Given the description of an element on the screen output the (x, y) to click on. 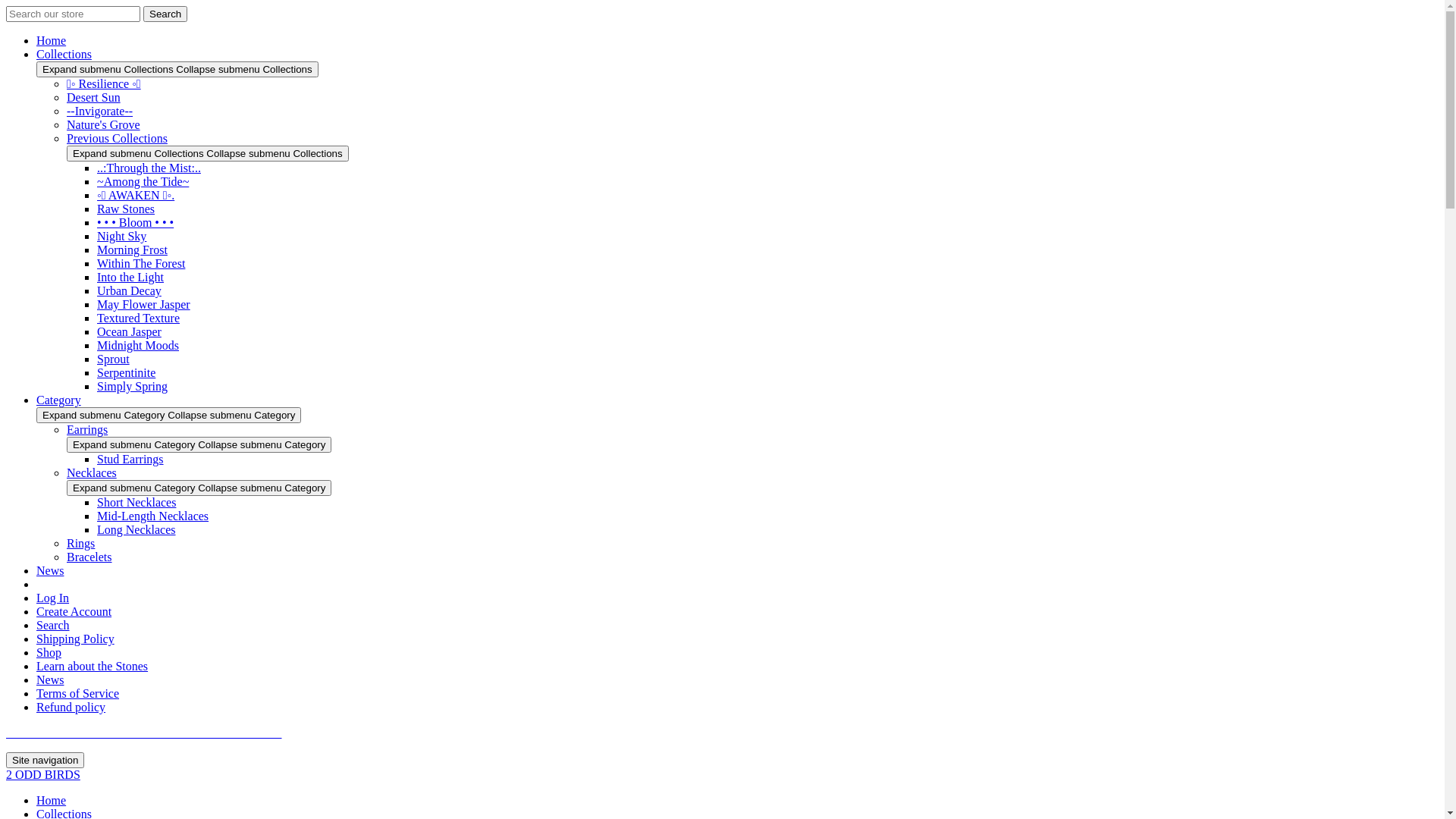
Earrings Element type: text (86, 429)
~Among the Tide~ Element type: text (142, 181)
Site navigation Element type: text (45, 760)
Long Necklaces Element type: text (136, 529)
Raw Stones Element type: text (125, 208)
News Element type: text (49, 570)
Log In Element type: text (52, 597)
Serpentinite Element type: text (126, 372)
Expand submenu Collections Collapse submenu Collections Element type: text (207, 153)
Necklaces Element type: text (91, 472)
Terms of Service Element type: text (77, 693)
Textured Texture Element type: text (138, 317)
Create Account Element type: text (73, 611)
Home Element type: text (50, 40)
Ocean Jasper Element type: text (129, 331)
Expand submenu Category Collapse submenu Category Element type: text (198, 487)
Morning Frost Element type: text (132, 249)
--Invigorate-- Element type: text (99, 110)
Night Sky Element type: text (121, 235)
Expand submenu Category Collapse submenu Category Element type: text (168, 415)
2 ODD BIRDS Element type: text (43, 774)
Refund policy Element type: text (70, 706)
Category Element type: text (58, 399)
Home Element type: text (50, 799)
Desert Sun Element type: text (93, 97)
Stud Earrings Element type: text (130, 458)
Search Element type: text (52, 624)
May Flower Jasper Element type: text (143, 304)
News Element type: text (49, 679)
Expand submenu Category Collapse submenu Category Element type: text (198, 444)
Shop Element type: text (48, 652)
Simply Spring Element type: text (132, 385)
Within The Forest Element type: text (141, 263)
Urban Decay Element type: text (129, 290)
Previous Collections Element type: text (116, 137)
Midnight Moods Element type: text (137, 344)
Search Element type: text (165, 13)
Sprout Element type: text (113, 358)
Nature's Grove Element type: text (103, 124)
..:Through the Mist:.. Element type: text (148, 167)
Collections Element type: text (63, 53)
Bracelets Element type: text (89, 556)
Shipping Policy Element type: text (75, 638)
Into the Light Element type: text (130, 276)
Learn about the Stones Element type: text (91, 665)
Short Necklaces Element type: text (136, 501)
Expand submenu Collections Collapse submenu Collections Element type: text (177, 69)
Rings Element type: text (80, 542)
Mid-Length Necklaces Element type: text (152, 515)
